Given the description of an element on the screen output the (x, y) to click on. 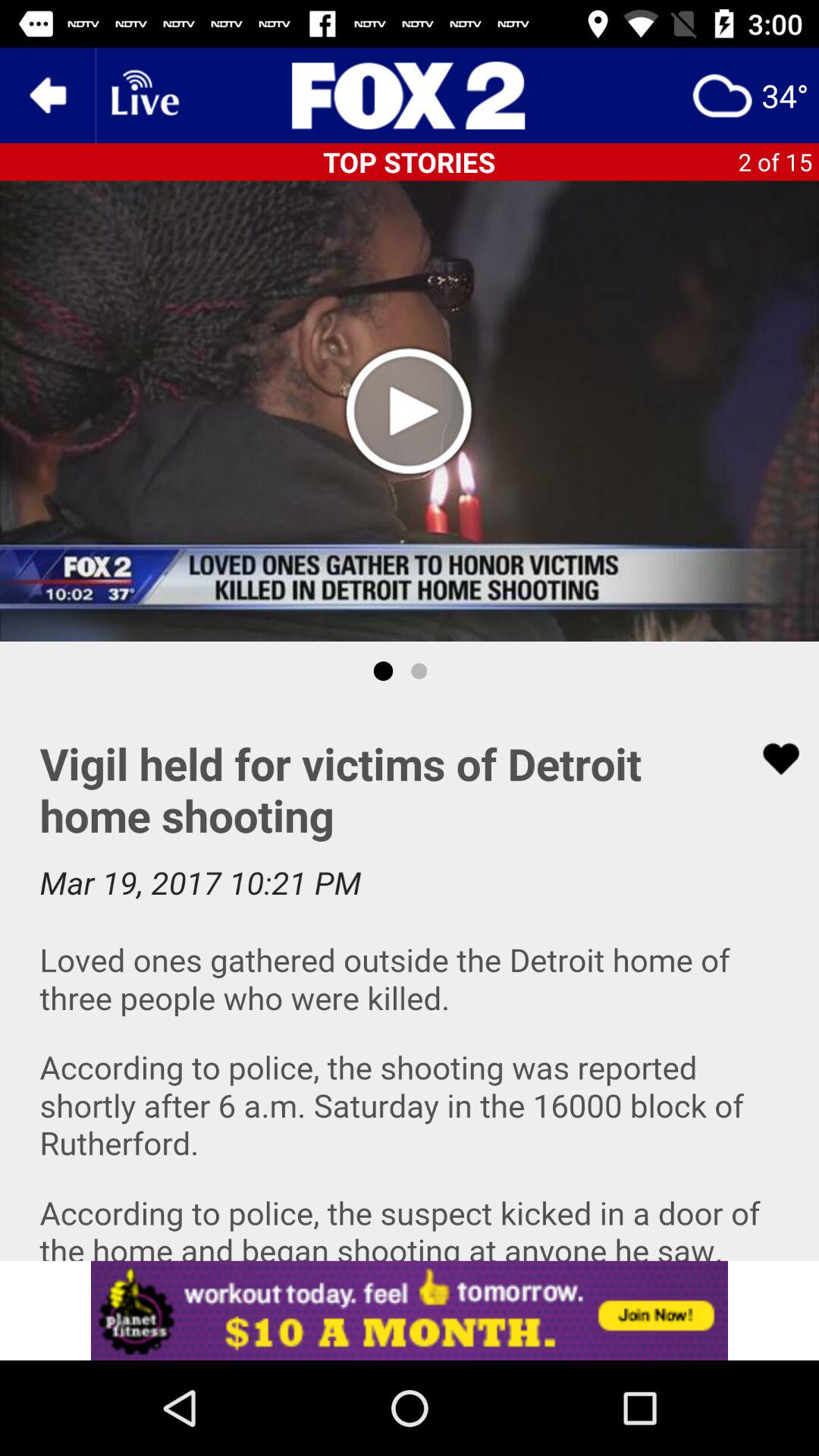
bookmark favorite (771, 758)
